Given the description of an element on the screen output the (x, y) to click on. 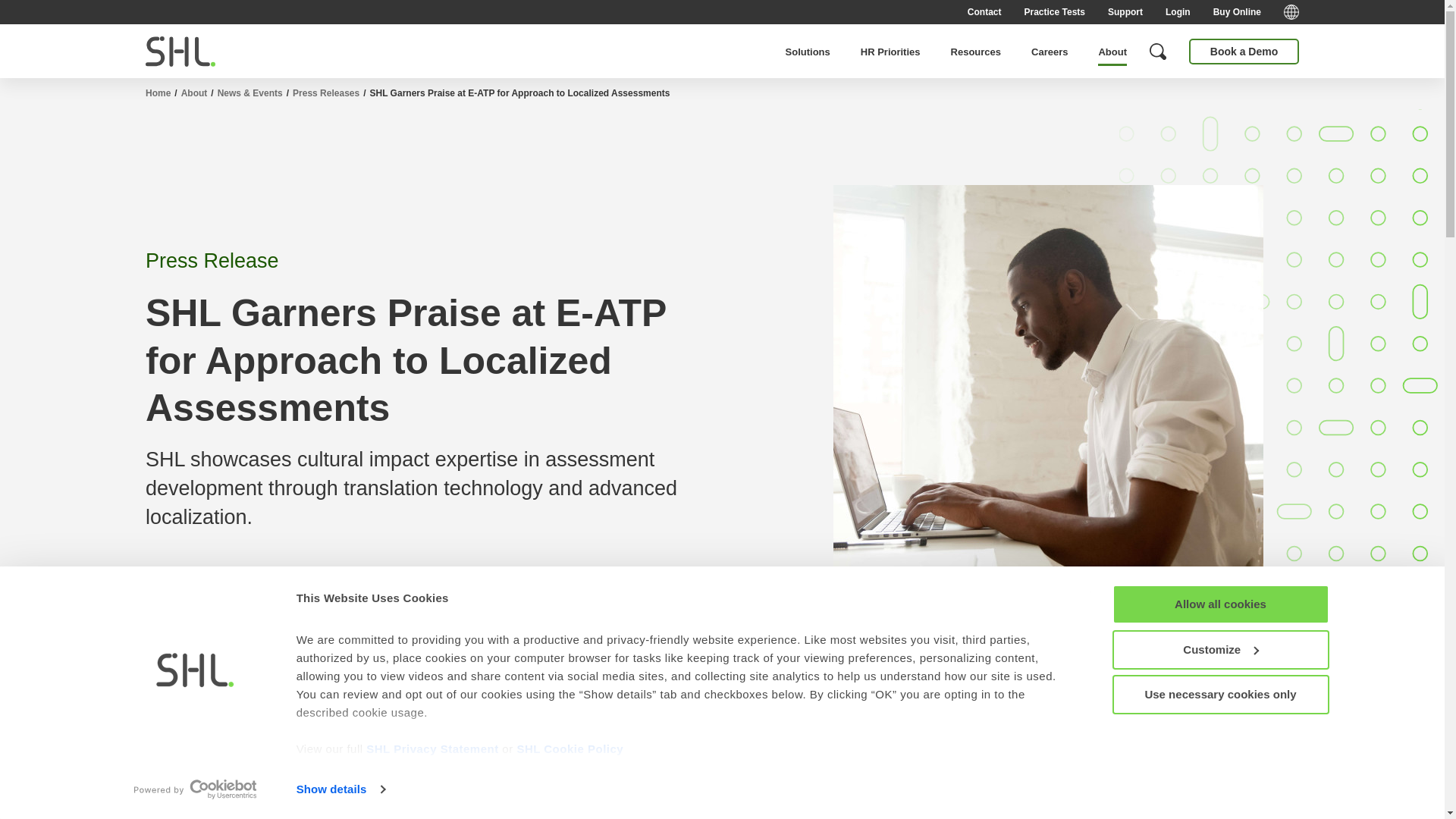
SHL Privacy Statement (431, 748)
Show details (340, 789)
SHL Privacy Statement (431, 748)
SHL Cookie Policy (569, 748)
SHL Cookie Policy (569, 748)
